Given the description of an element on the screen output the (x, y) to click on. 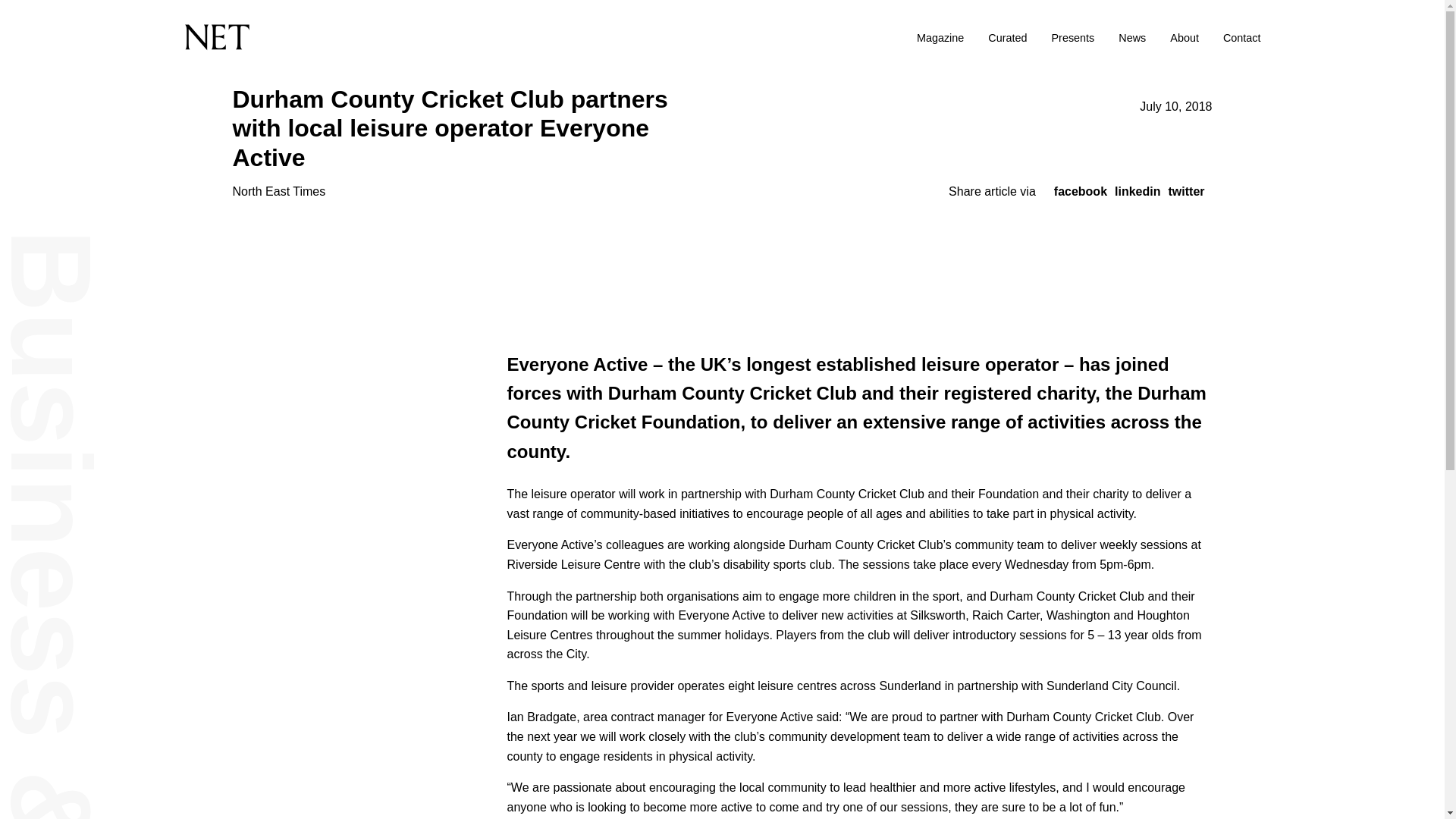
Return to the homepage (383, 37)
Presents (1072, 37)
Contact (1241, 37)
Magazine (940, 37)
Share via Facebook (1080, 191)
linkedin (1137, 191)
twitter (1185, 191)
facebook (1080, 191)
Share via Twitter (1185, 191)
About (1184, 37)
